Given the description of an element on the screen output the (x, y) to click on. 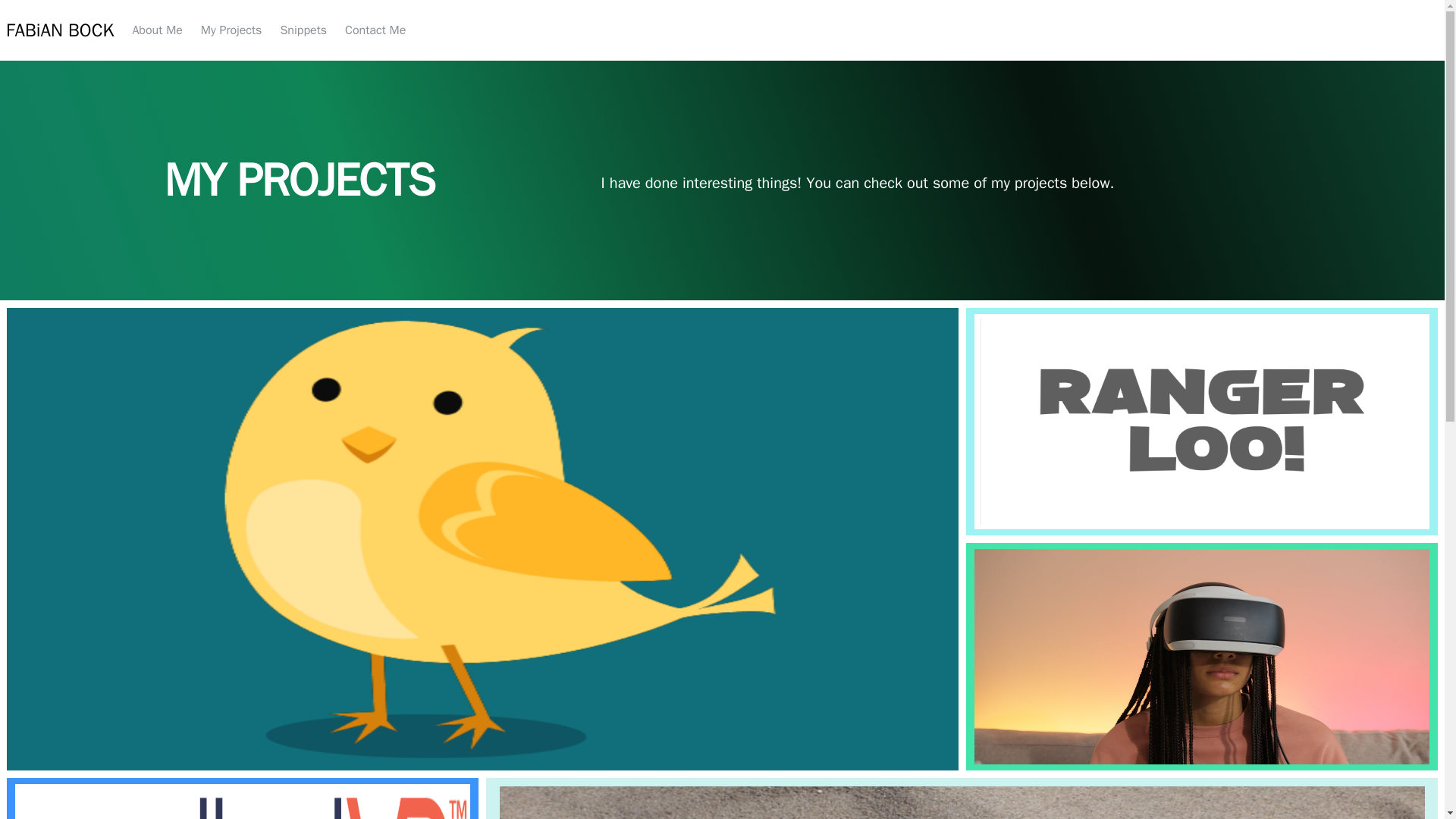
Read More (1027, 514)
Snippets (302, 29)
Contact Me (375, 29)
About Me (157, 29)
FABiAN BOCK (59, 30)
Read More (1027, 749)
Read More (78, 748)
My Projects (231, 29)
